Given the description of an element on the screen output the (x, y) to click on. 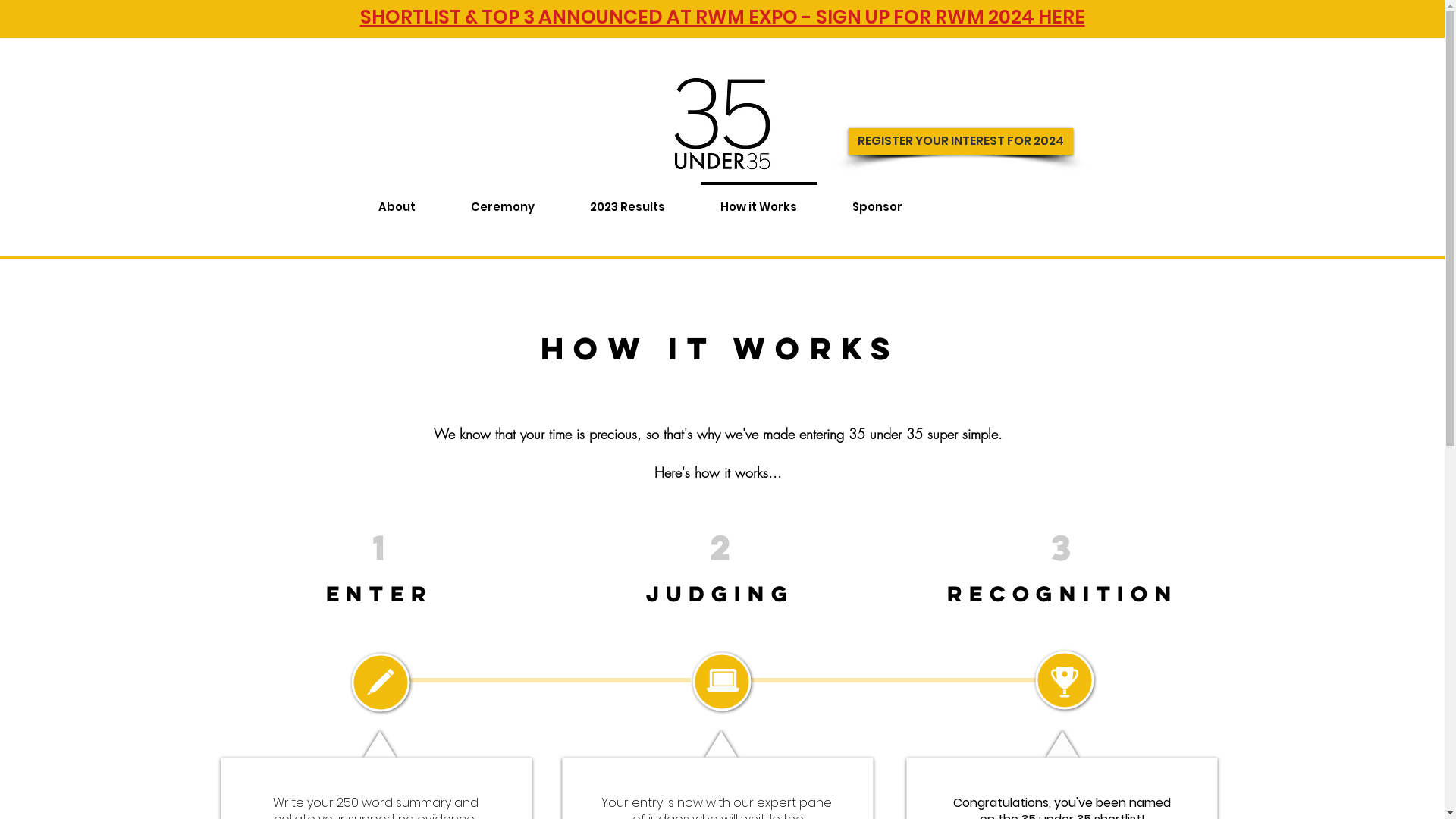
Sponsor Element type: text (877, 199)
2023 Results Element type: text (627, 199)
Ceremony Element type: text (501, 199)
REGISTER YOUR INTEREST FOR 2024 Element type: text (959, 141)
About Element type: text (396, 199)
How it Works Element type: text (759, 199)
